Given the description of an element on the screen output the (x, y) to click on. 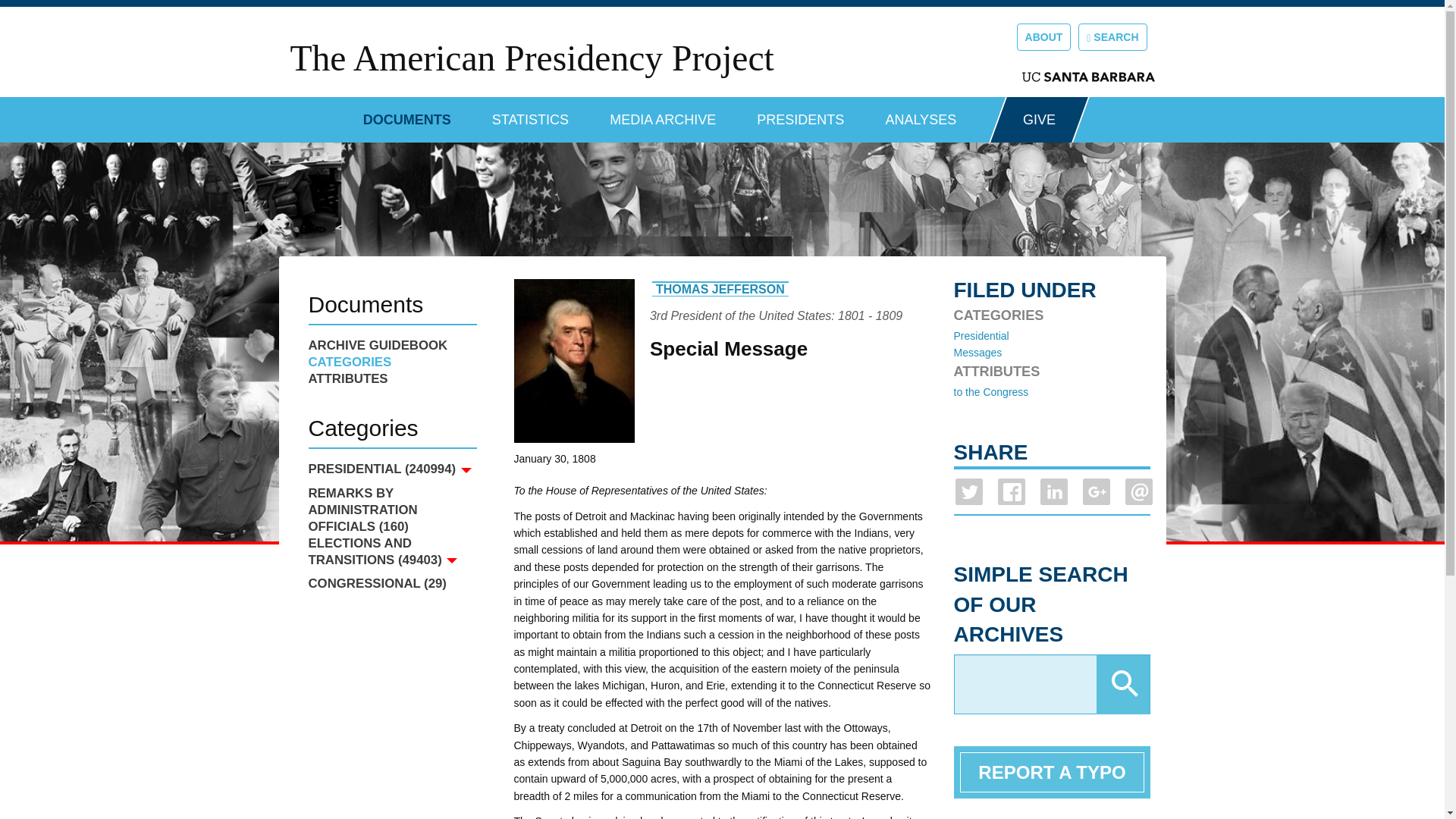
ATTRIBUTES (391, 379)
ANALYSES (920, 113)
 SEARCH (1112, 36)
MEDIA ARCHIVE (663, 113)
The American Presidency Project (531, 57)
PRESIDENTS (800, 113)
GIVE (1038, 119)
ABOUT (1043, 36)
DOCUMENTS (406, 113)
ARCHIVE GUIDEBOOK (391, 345)
CATEGORIES (391, 362)
STATISTICS (530, 113)
